Given the description of an element on the screen output the (x, y) to click on. 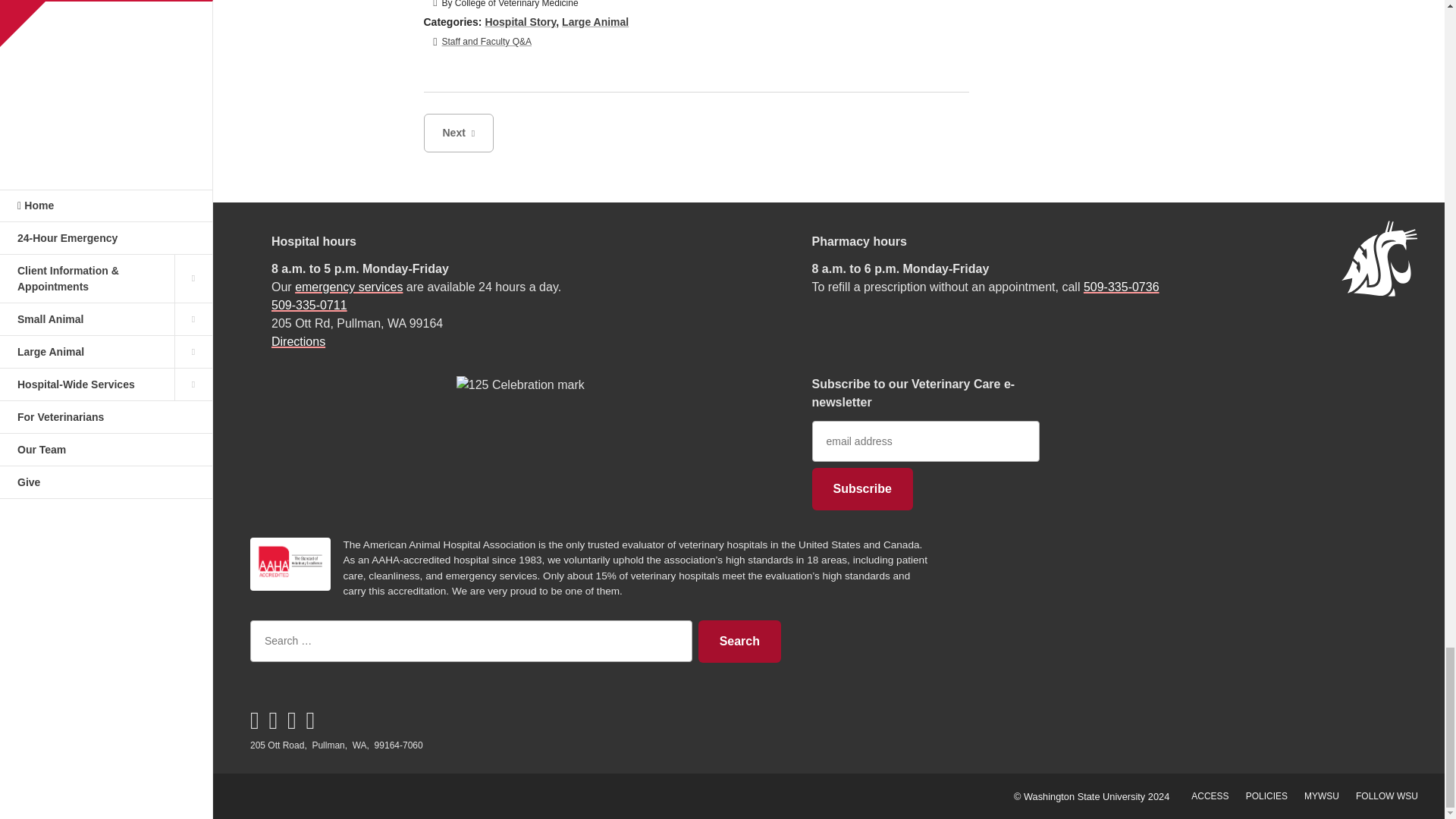
Subscribe (861, 488)
Search (739, 640)
Search (739, 640)
